Given the description of an element on the screen output the (x, y) to click on. 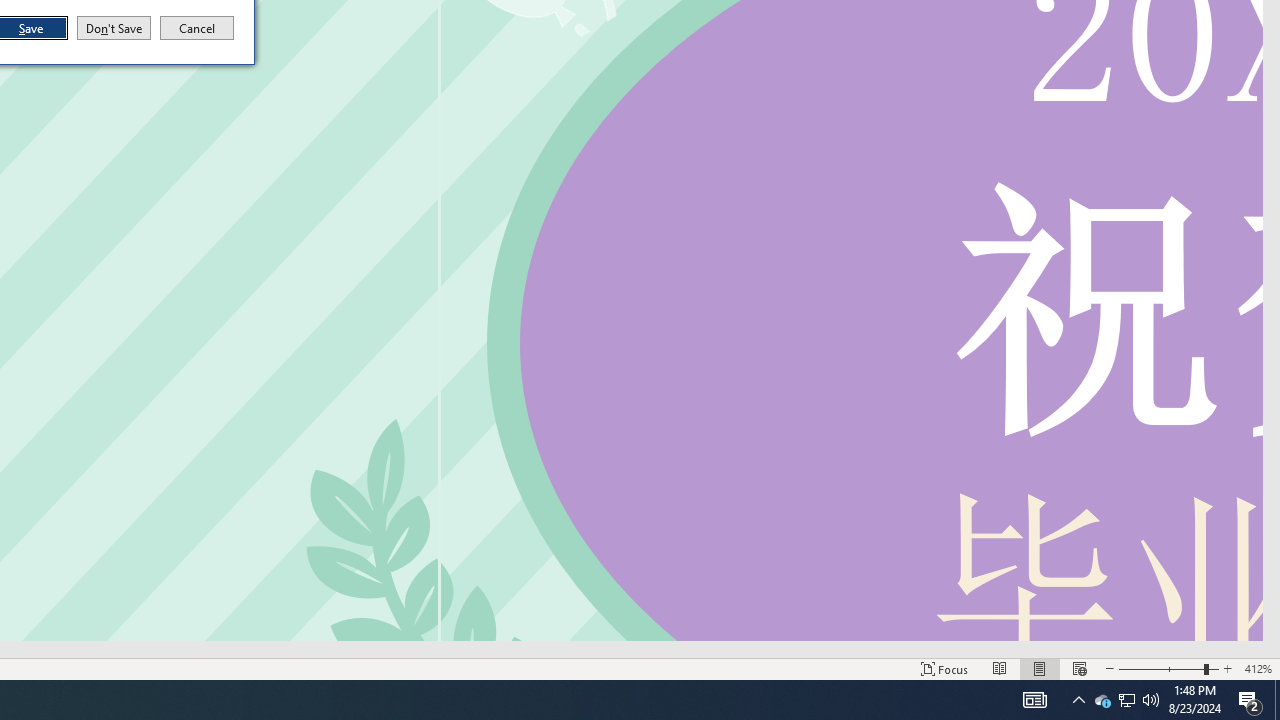
Cancel (197, 27)
Show desktop (1277, 699)
